Given the description of an element on the screen output the (x, y) to click on. 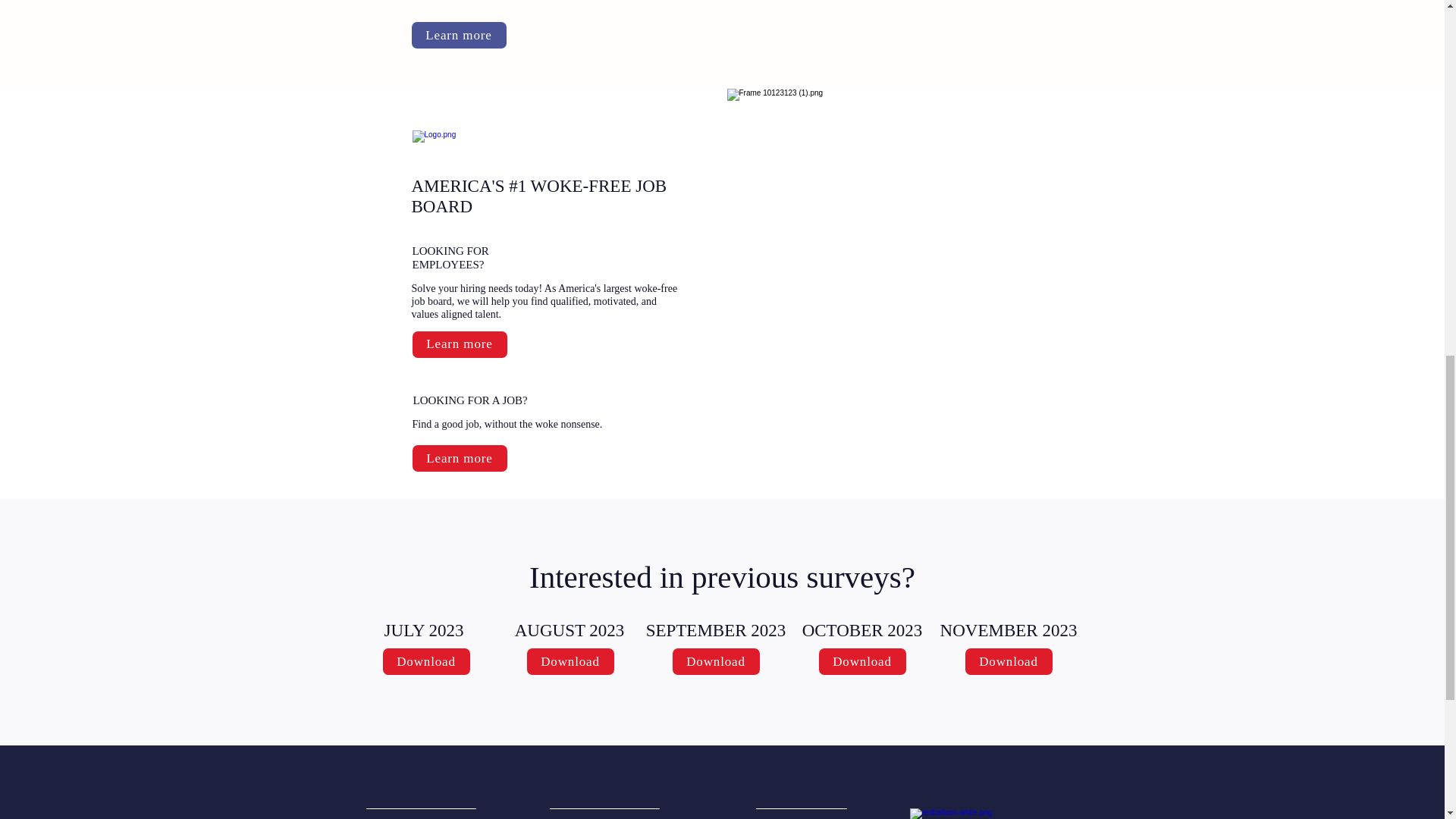
Learn more (459, 458)
Learn more (459, 344)
Download (568, 661)
Download (1007, 661)
Download (424, 661)
Download (861, 661)
Download (714, 661)
Learn more (457, 35)
